Given the description of an element on the screen output the (x, y) to click on. 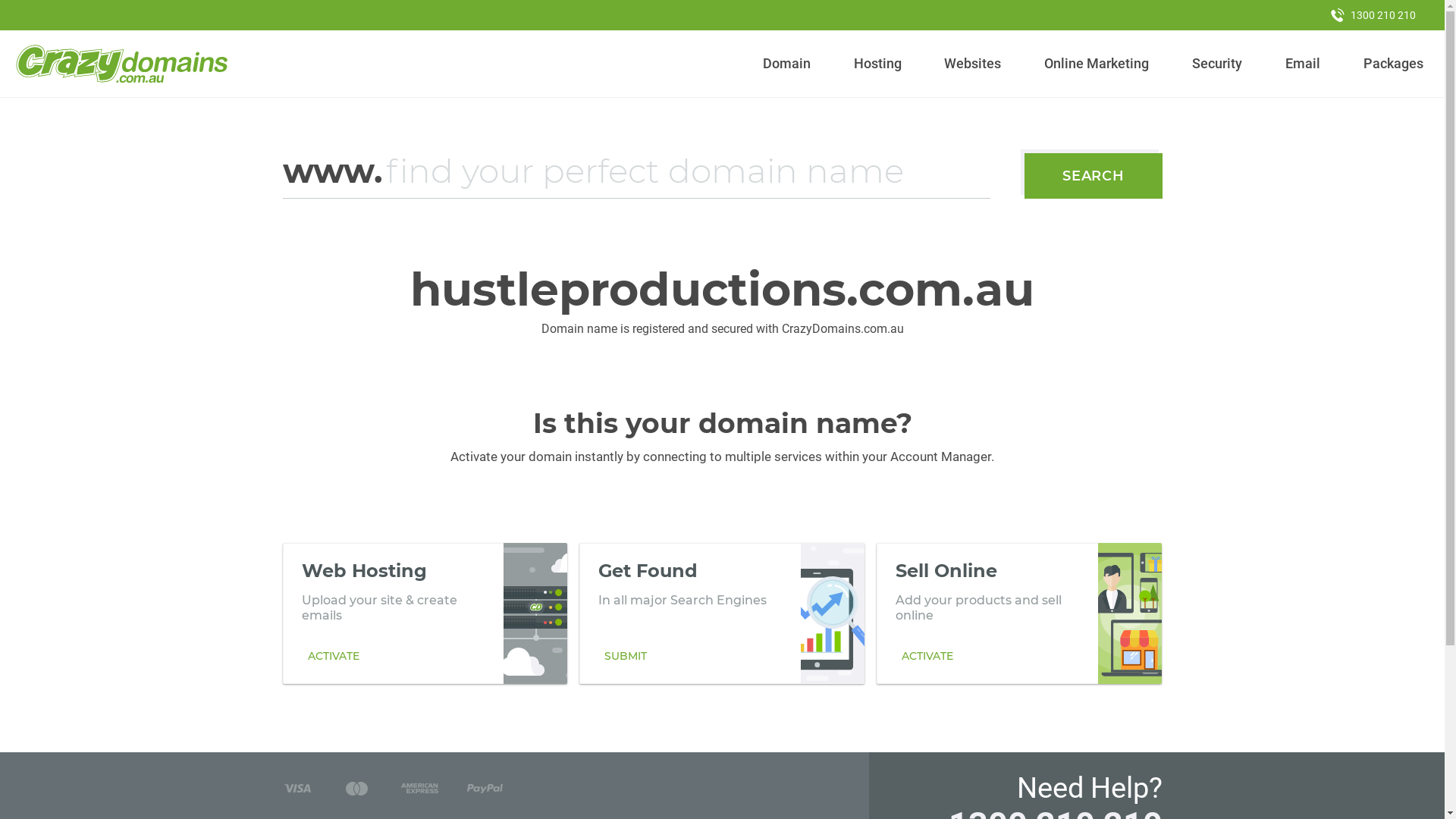
Sell Online
Add your products and sell online
ACTIVATE Element type: text (1018, 613)
Hosting Element type: text (877, 63)
Security Element type: text (1217, 63)
Web Hosting
Upload your site & create emails
ACTIVATE Element type: text (424, 613)
Email Element type: text (1302, 63)
Online Marketing Element type: text (1096, 63)
Websites Element type: text (972, 63)
Domain Element type: text (786, 63)
Get Found
In all major Search Engines
SUBMIT Element type: text (721, 613)
SEARCH Element type: text (1092, 175)
1300 210 210 Element type: text (1373, 15)
Packages Element type: text (1392, 63)
